Given the description of an element on the screen output the (x, y) to click on. 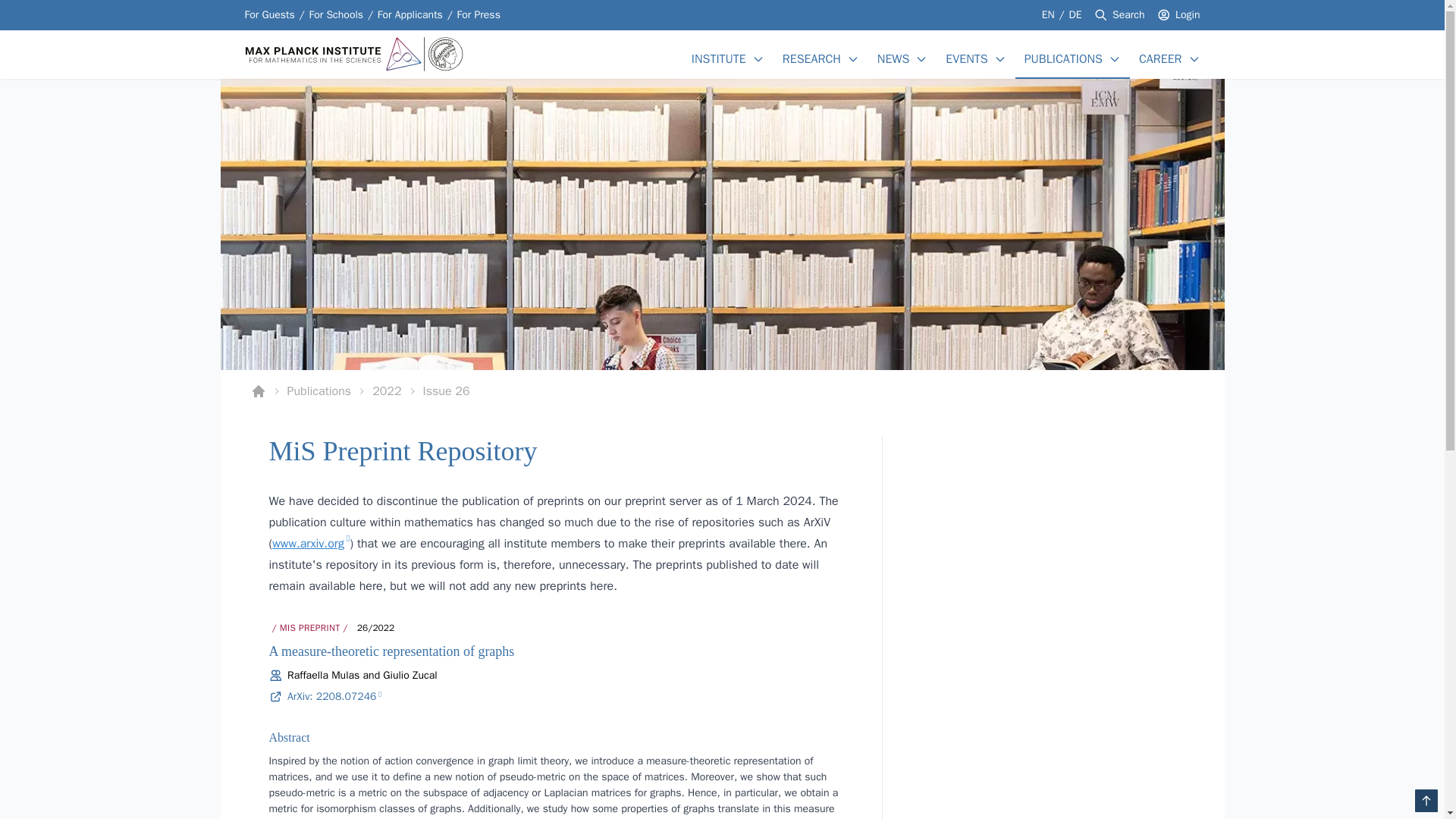
For Press (478, 14)
English (1050, 14)
For Schools (335, 14)
EN (1050, 14)
EVENTS (965, 58)
For Press (478, 14)
PUBLICATIONS (1063, 58)
For Applicants (721, 390)
Login (409, 14)
DE (1186, 14)
For Applicants (1074, 14)
For Guests (409, 14)
For Schools (269, 14)
NEWS (335, 14)
